Given the description of an element on the screen output the (x, y) to click on. 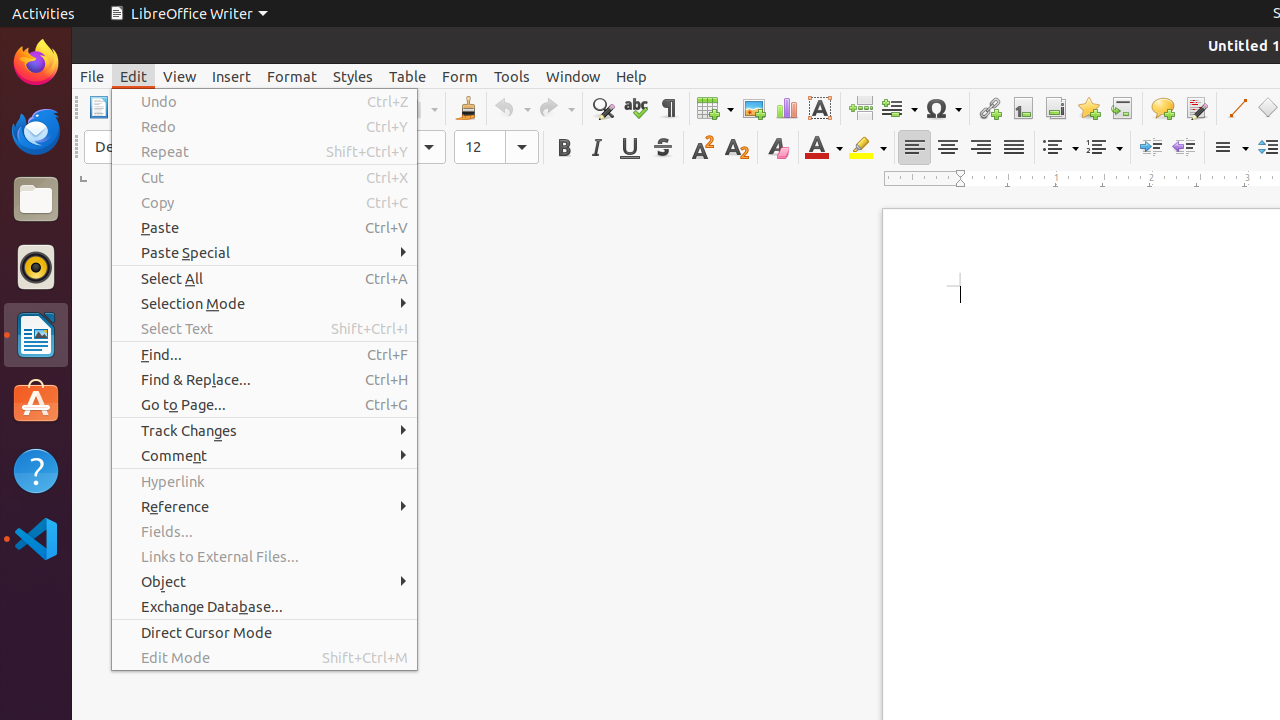
Track Changes Functions Element type: toggle-button (1195, 108)
Object Element type: menu (264, 581)
Help Element type: menu (631, 76)
Cut Element type: menu-item (264, 177)
Cross-reference Element type: push-button (1121, 108)
